Given the description of an element on the screen output the (x, y) to click on. 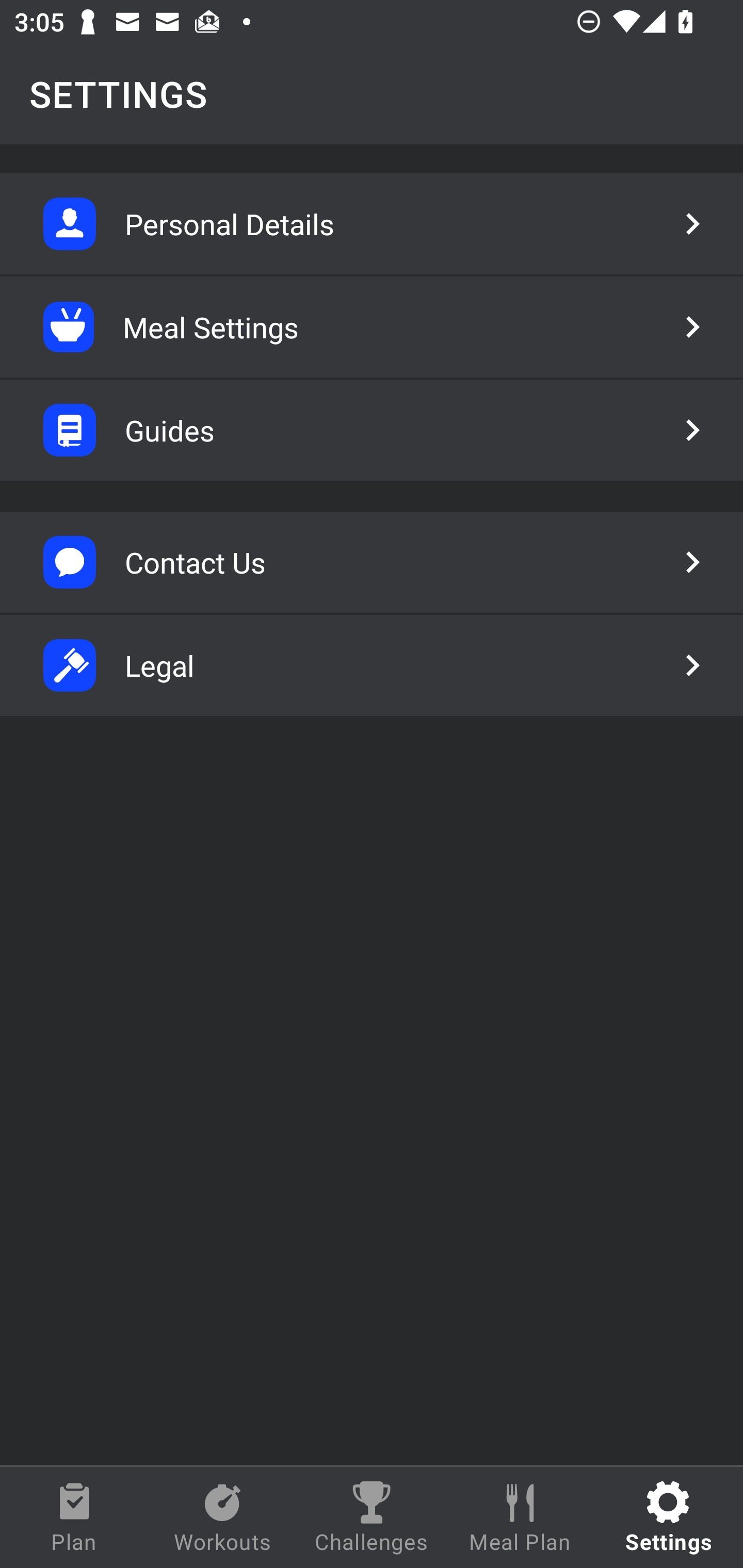
Personal Details (371, 224)
Meal Settings (371, 326)
Guides (371, 430)
Contact Us (371, 562)
Legal (371, 665)
 Plan  (74, 1517)
 Workouts  (222, 1517)
 Challenges  (371, 1517)
 Meal Plan  (519, 1517)
